Given the description of an element on the screen output the (x, y) to click on. 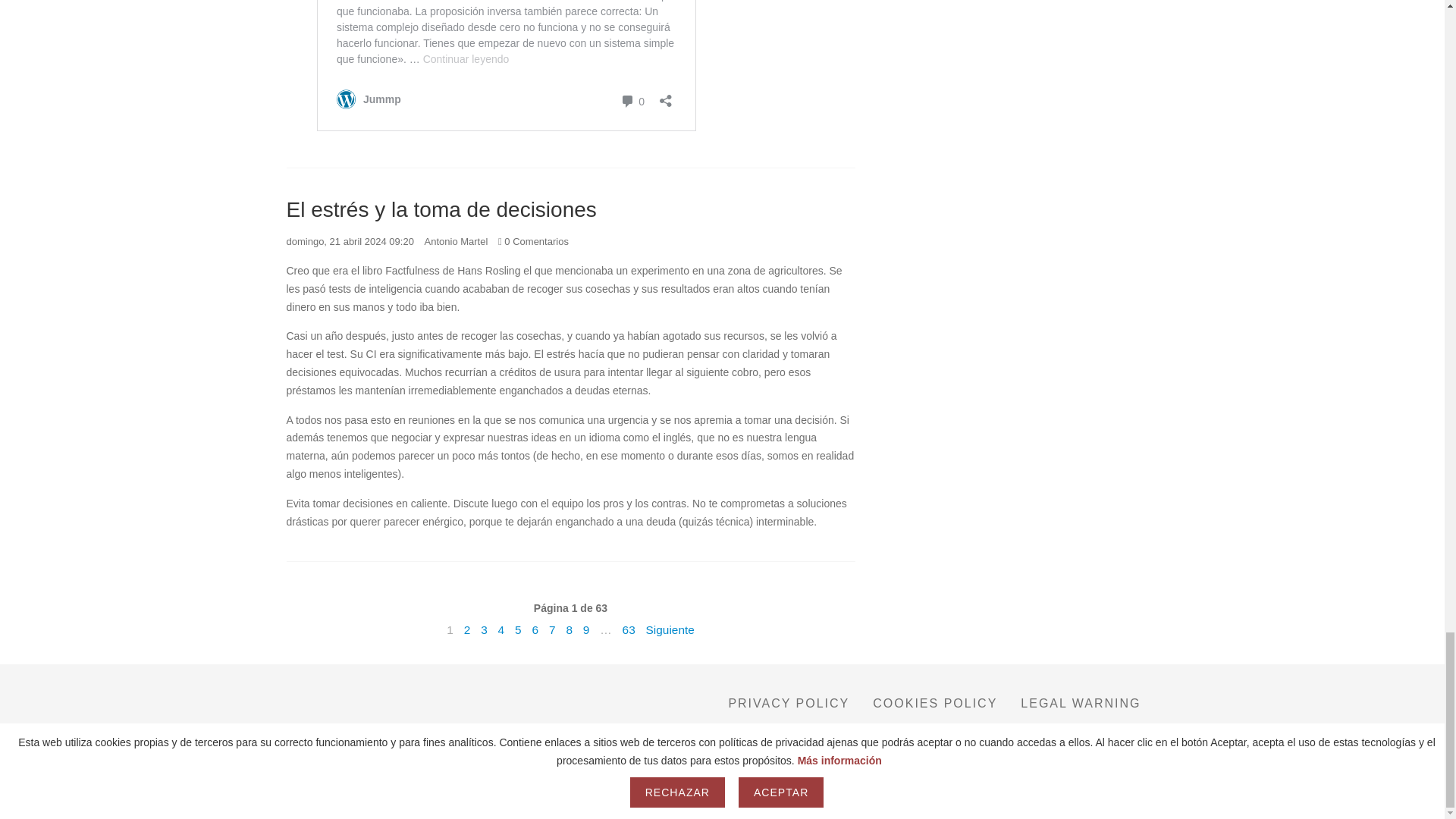
Legal warning (1080, 703)
COOKIES POLICY (934, 703)
PRIVACY POLICY (789, 703)
LEGAL WARNING (1080, 703)
Privacy policy (789, 703)
Gantry Framework (1112, 754)
Cookies policy (934, 703)
Siguiente (670, 629)
Aviso Legal (602, 801)
